Given the description of an element on the screen output the (x, y) to click on. 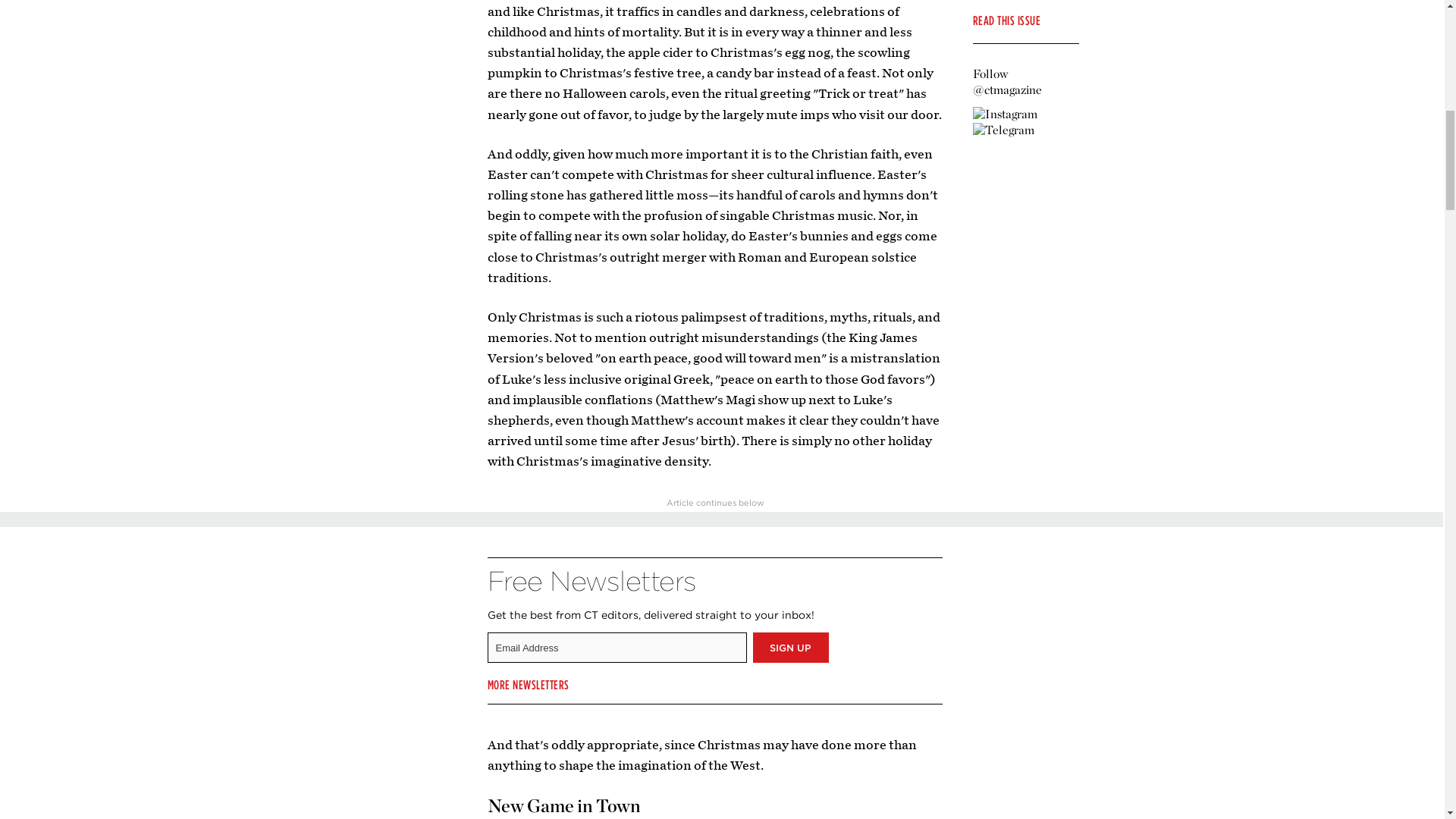
Sign Up (790, 647)
Email Address (615, 647)
